Given the description of an element on the screen output the (x, y) to click on. 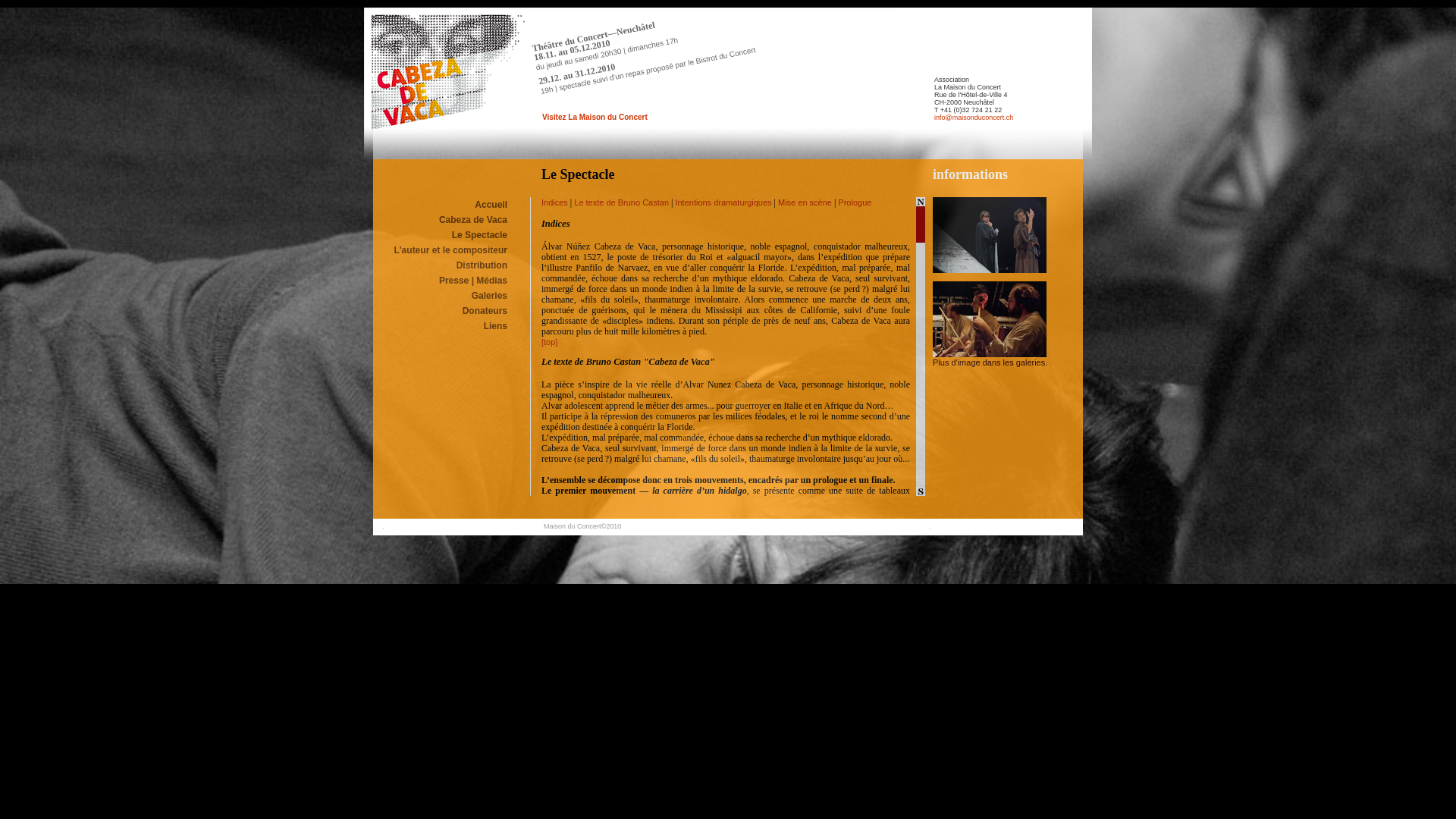
Le texte de Bruno Castan Element type: text (621, 202)
Prologue Element type: text (854, 202)
[top] Element type: text (549, 341)
Intentions dramaturgiques Element type: text (722, 202)
Cabeza de Vaca Element type: text (473, 219)
Liens Element type: text (495, 325)
L'auteur et le compositeur Element type: text (450, 249)
Accueil Element type: text (490, 204)
info@maisonduconcert.ch Element type: text (973, 117)
Visitez La Maison du Concert Element type: text (594, 116)
Cabeza de Vaca Element type: hover (989, 269)
Donateurs Element type: text (484, 310)
Distribution Element type: text (481, 265)
Le Spectacle Element type: text (479, 234)
Cabeza de Vaca Element type: hover (989, 353)
Indices Element type: text (554, 202)
Galeries Element type: text (489, 295)
